Given the description of an element on the screen output the (x, y) to click on. 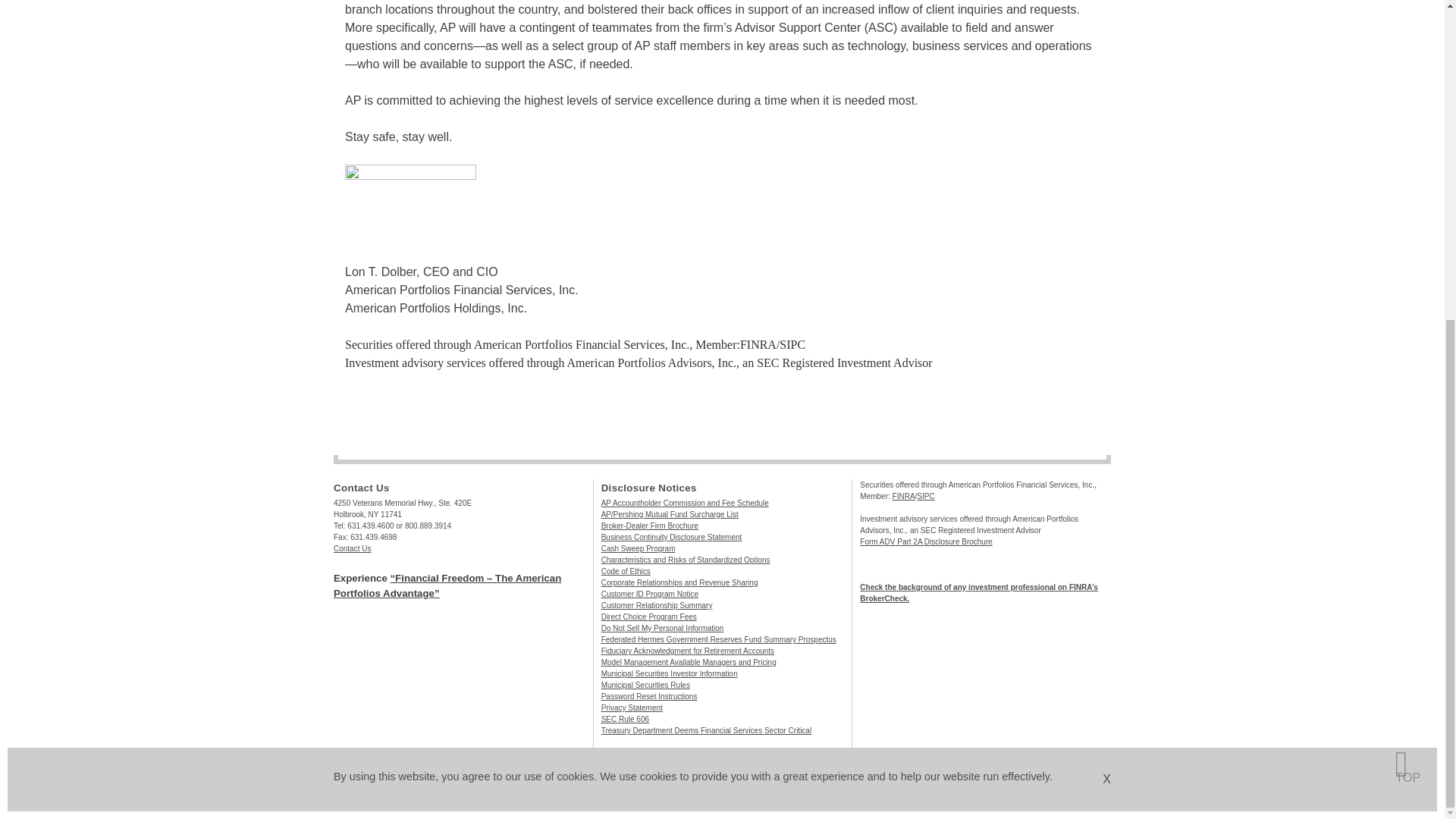
Customer ID Program Notice (649, 593)
Code of Ethics (625, 571)
Contact Us (352, 548)
Broker-Dealer Firm Brochure (649, 525)
AP Accountholder Commission and Fee Schedule (684, 502)
Corporate Relationships and Revenue Sharing (679, 582)
Business Continuity Disclosure Statement (671, 537)
Characteristics and Risks of Standardized Options (685, 560)
Customer Relationship Summary (657, 605)
Cash Sweep Program (638, 548)
